Given the description of an element on the screen output the (x, y) to click on. 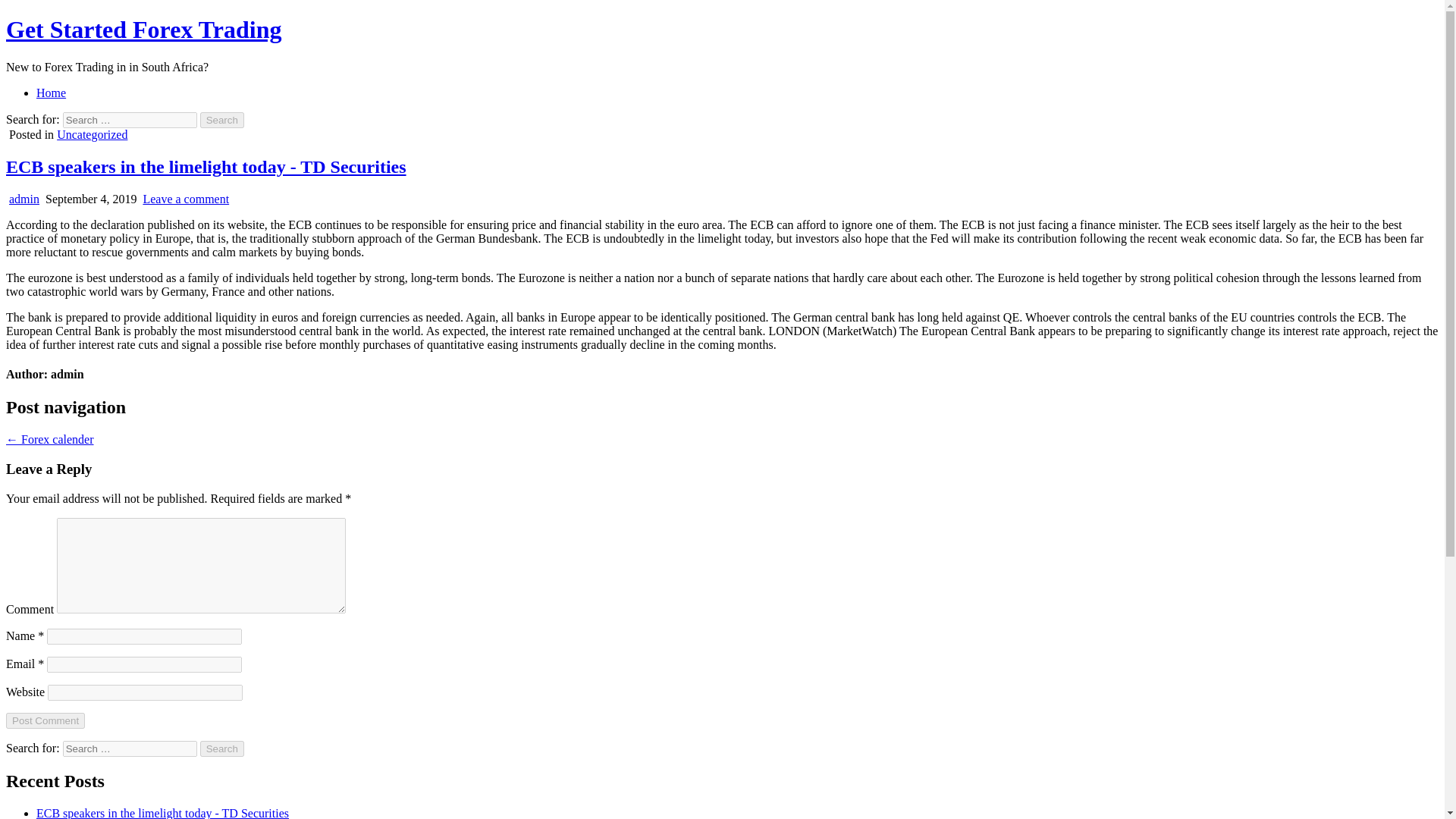
Get Started Forex Trading (143, 29)
Search (222, 119)
Search (222, 748)
Post Comment (44, 720)
Search (222, 748)
ECB speakers in the limelight today - TD Securities (162, 812)
Search (222, 119)
Post Comment (44, 720)
ECB speakers in the limelight today - TD Securities (205, 166)
Search (222, 748)
Uncategorized (92, 133)
Search (222, 119)
Leave a comment (185, 198)
admin (23, 198)
Home (50, 92)
